Given the description of an element on the screen output the (x, y) to click on. 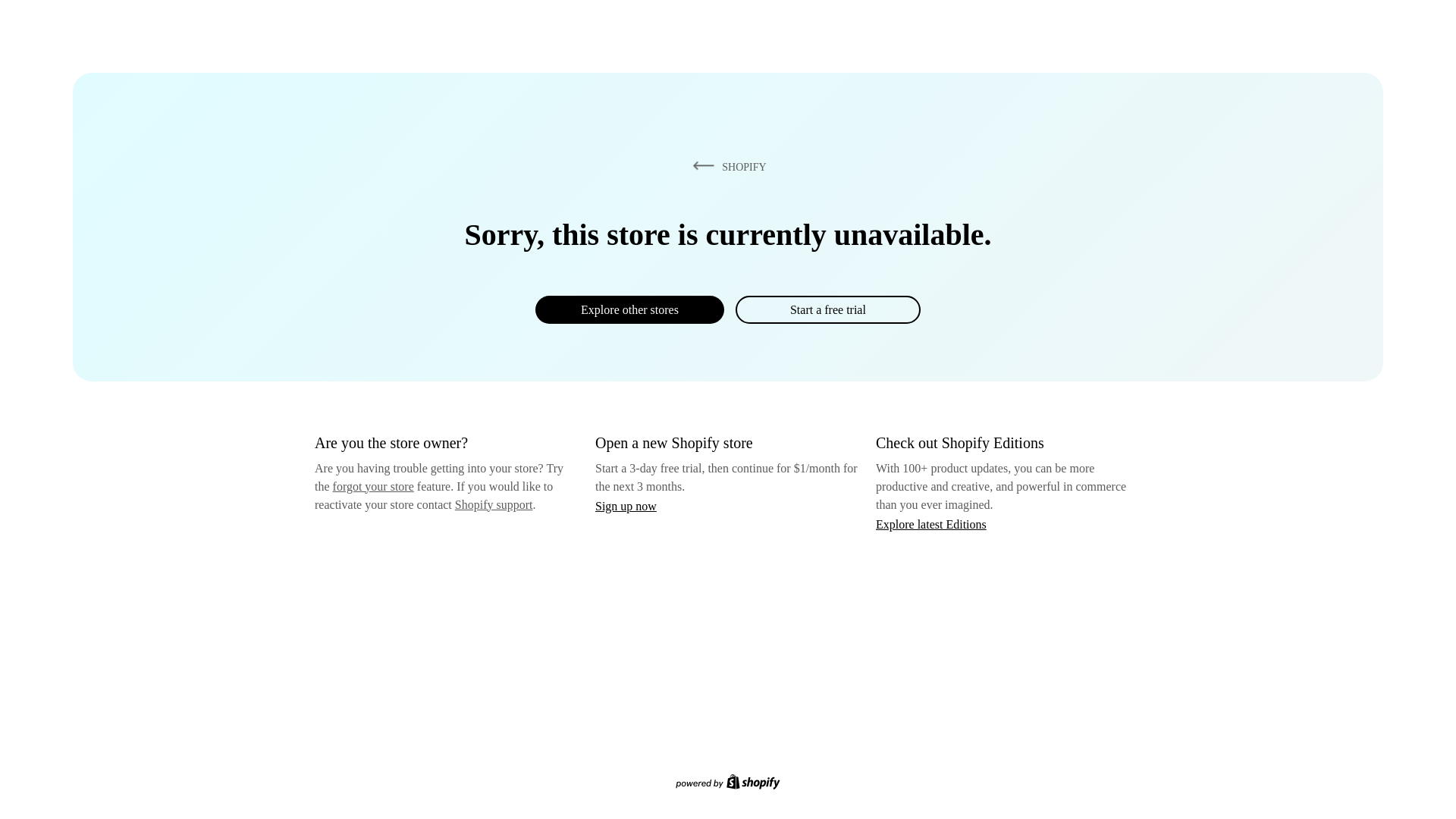
Start a free trial (827, 309)
Sign up now (625, 505)
Explore latest Editions (931, 523)
Shopify support (493, 504)
SHOPIFY (726, 166)
Explore other stores (629, 309)
forgot your store (373, 486)
